Given the description of an element on the screen output the (x, y) to click on. 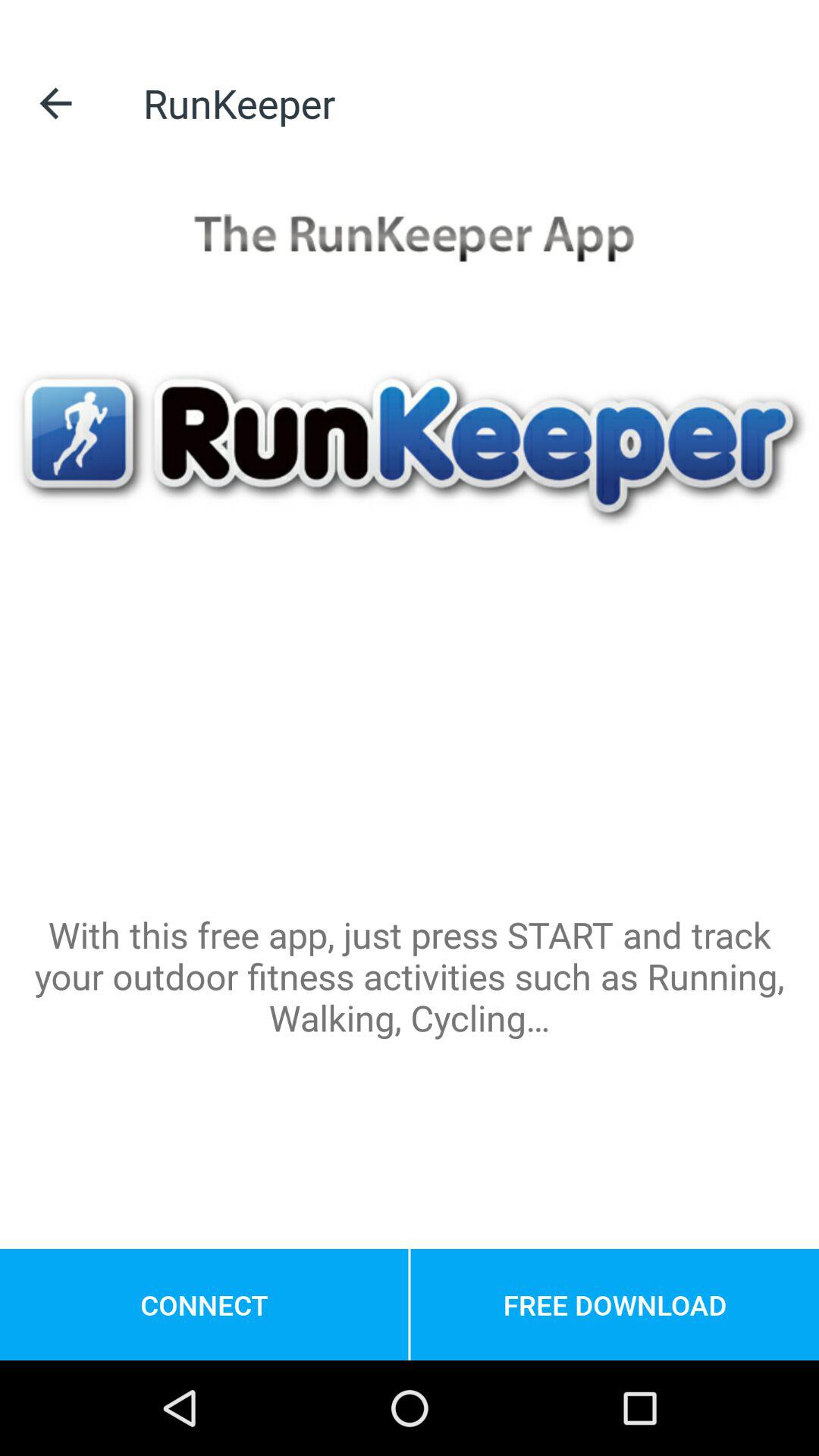
click the item to the left of the runkeeper item (55, 103)
